Given the description of an element on the screen output the (x, y) to click on. 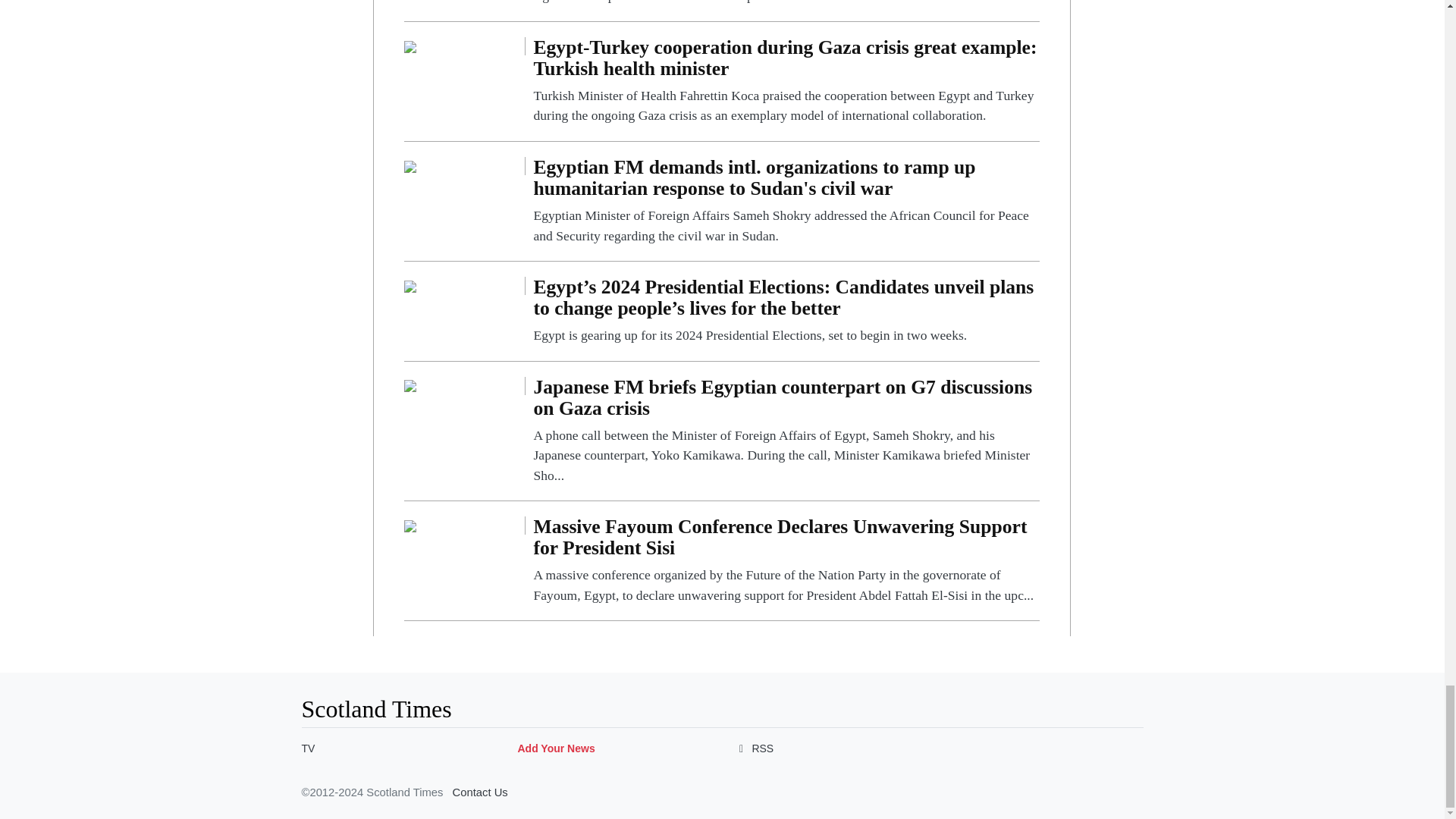
Saudi Arabia issues hydrogen train licence (785, 2)
